Given the description of an element on the screen output the (x, y) to click on. 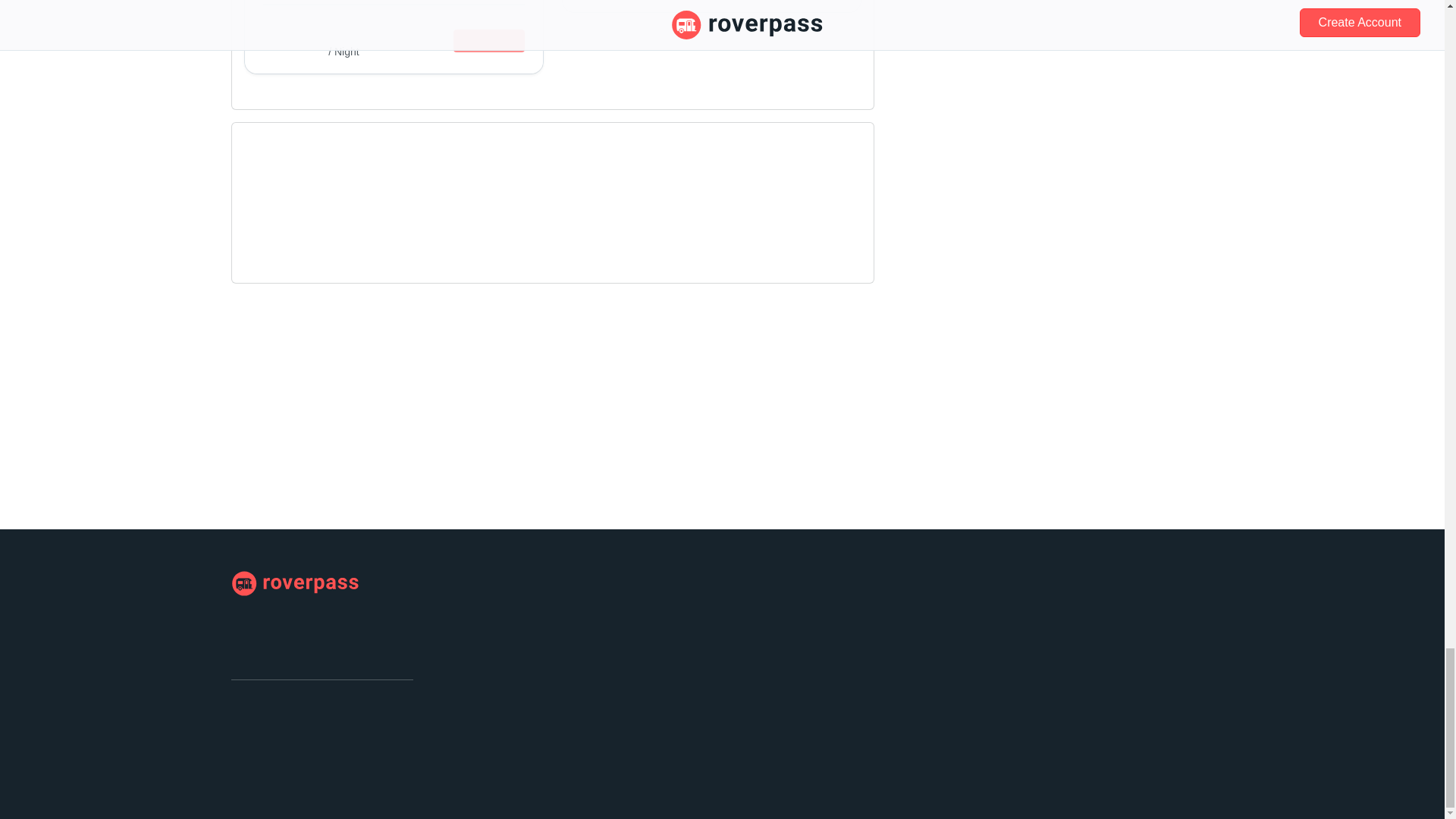
Facebook (242, 711)
RoverPass (294, 583)
Twitter (267, 711)
